Given the description of an element on the screen output the (x, y) to click on. 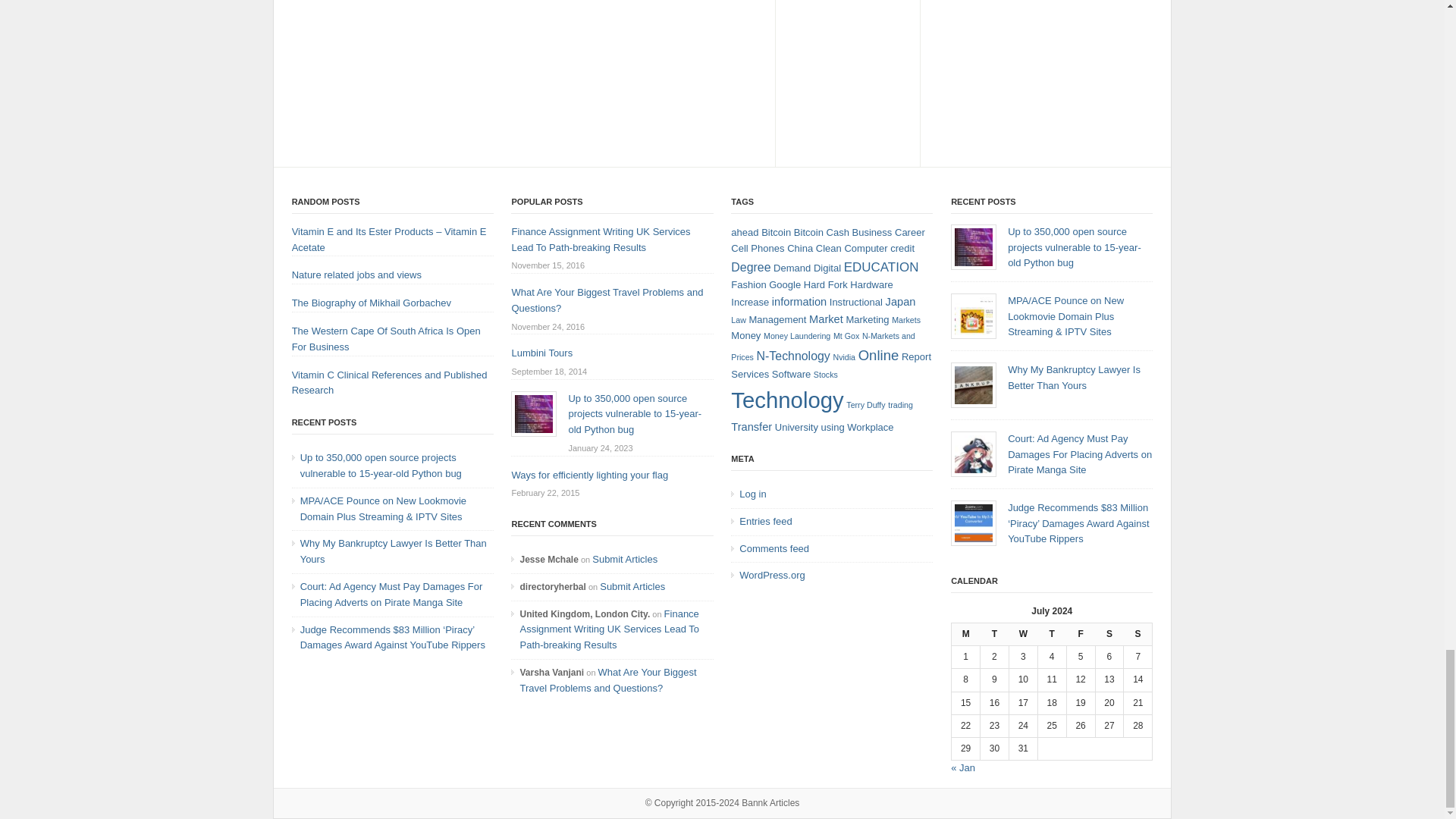
Wednesday (1022, 634)
Monday (965, 634)
Friday (1079, 634)
Saturday (1109, 634)
Sunday (1138, 634)
Thursday (1050, 634)
Tuesday (994, 634)
